Given the description of an element on the screen output the (x, y) to click on. 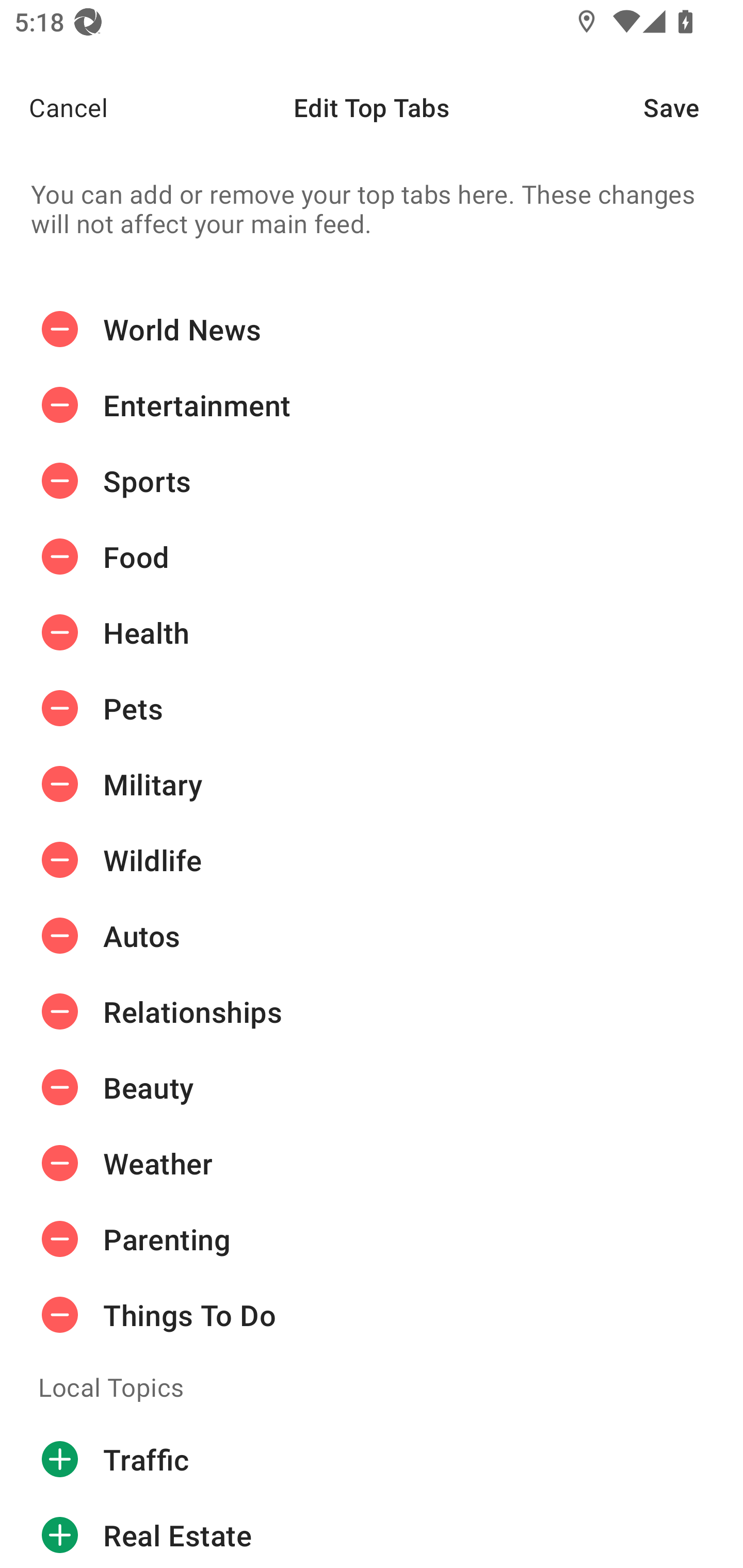
Cancel (53, 106)
Save (693, 106)
World News (371, 330)
Entertainment (371, 404)
Sports (371, 481)
Food (371, 556)
Health (371, 632)
Pets (371, 708)
Military (371, 783)
Wildlife (371, 859)
Autos (371, 935)
Relationships (371, 1010)
Beauty (371, 1086)
Weather (371, 1163)
Parenting (371, 1238)
Things To Do (371, 1314)
Traffic (371, 1459)
Real Estate (371, 1532)
